Given the description of an element on the screen output the (x, y) to click on. 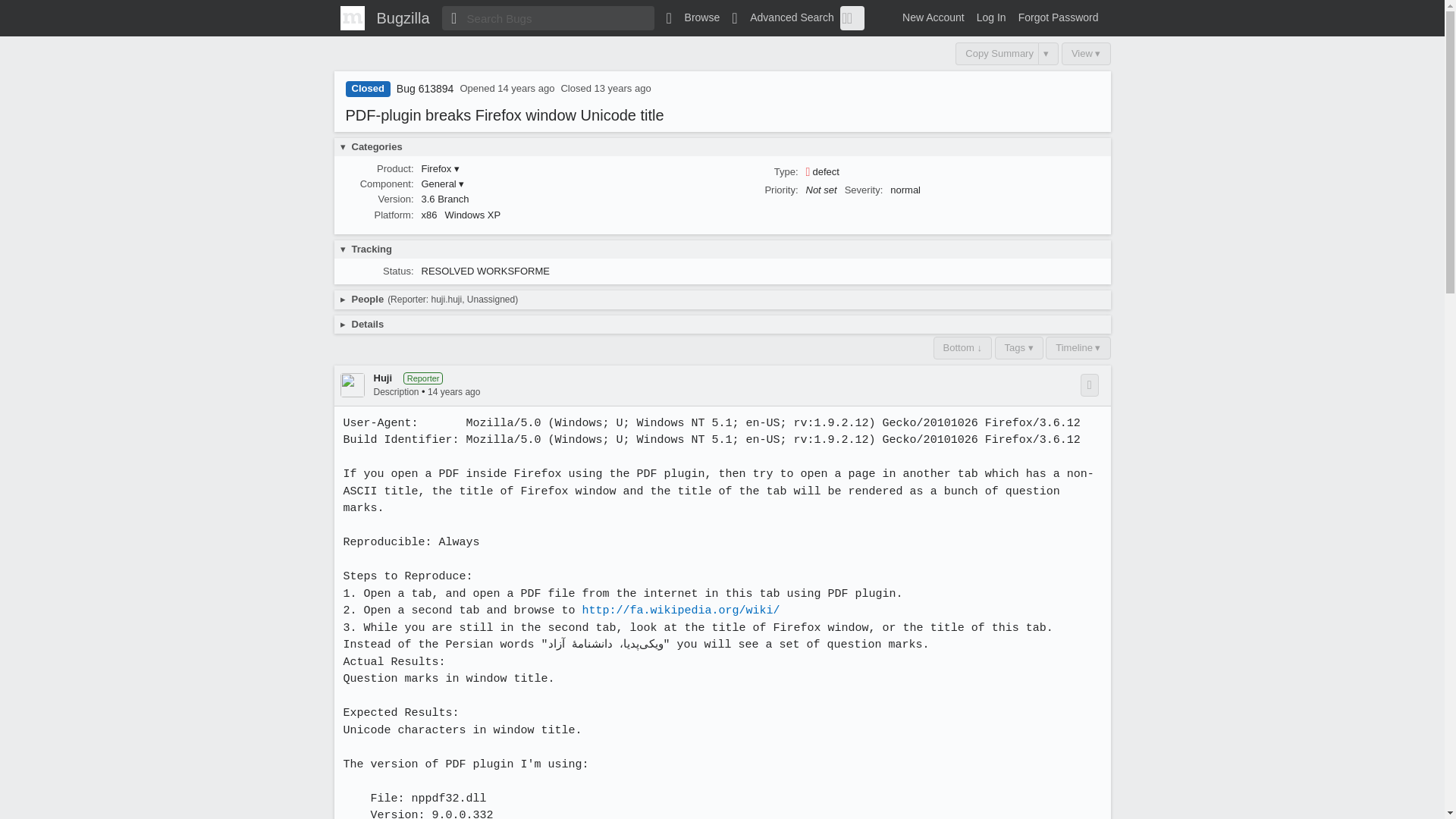
2011-06-27 23:03 PDT (622, 88)
2010-11-21 16:20 PST (525, 88)
Log In (991, 17)
More options for copy (1048, 53)
Platform: (393, 214)
Bugzilla (402, 17)
Component: (386, 183)
Enter a bug number or some search terms (547, 17)
Type: (785, 171)
Search bugs using various criteria (782, 17)
